Given the description of an element on the screen output the (x, y) to click on. 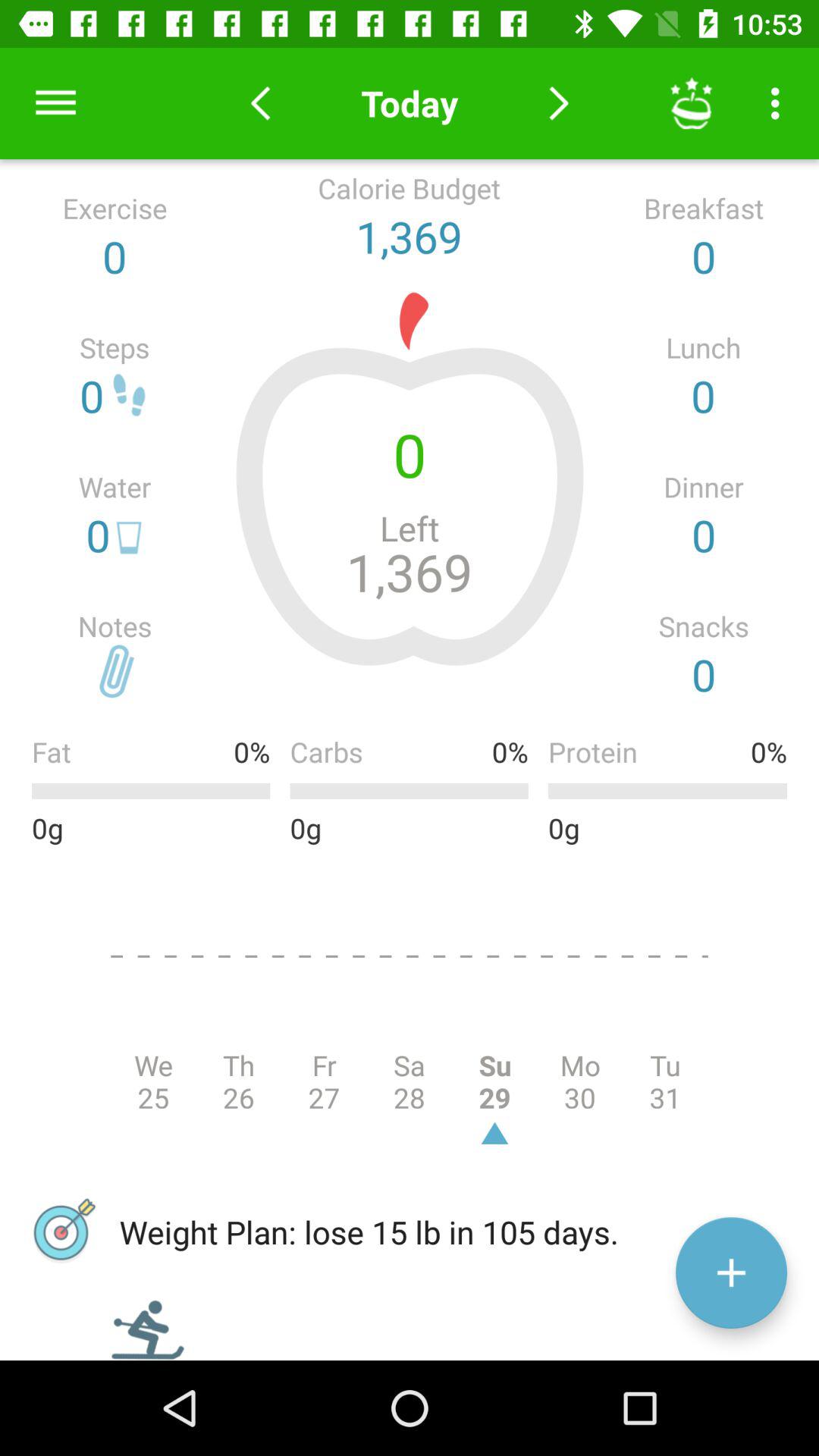
go to the previous page (260, 103)
